Given the description of an element on the screen output the (x, y) to click on. 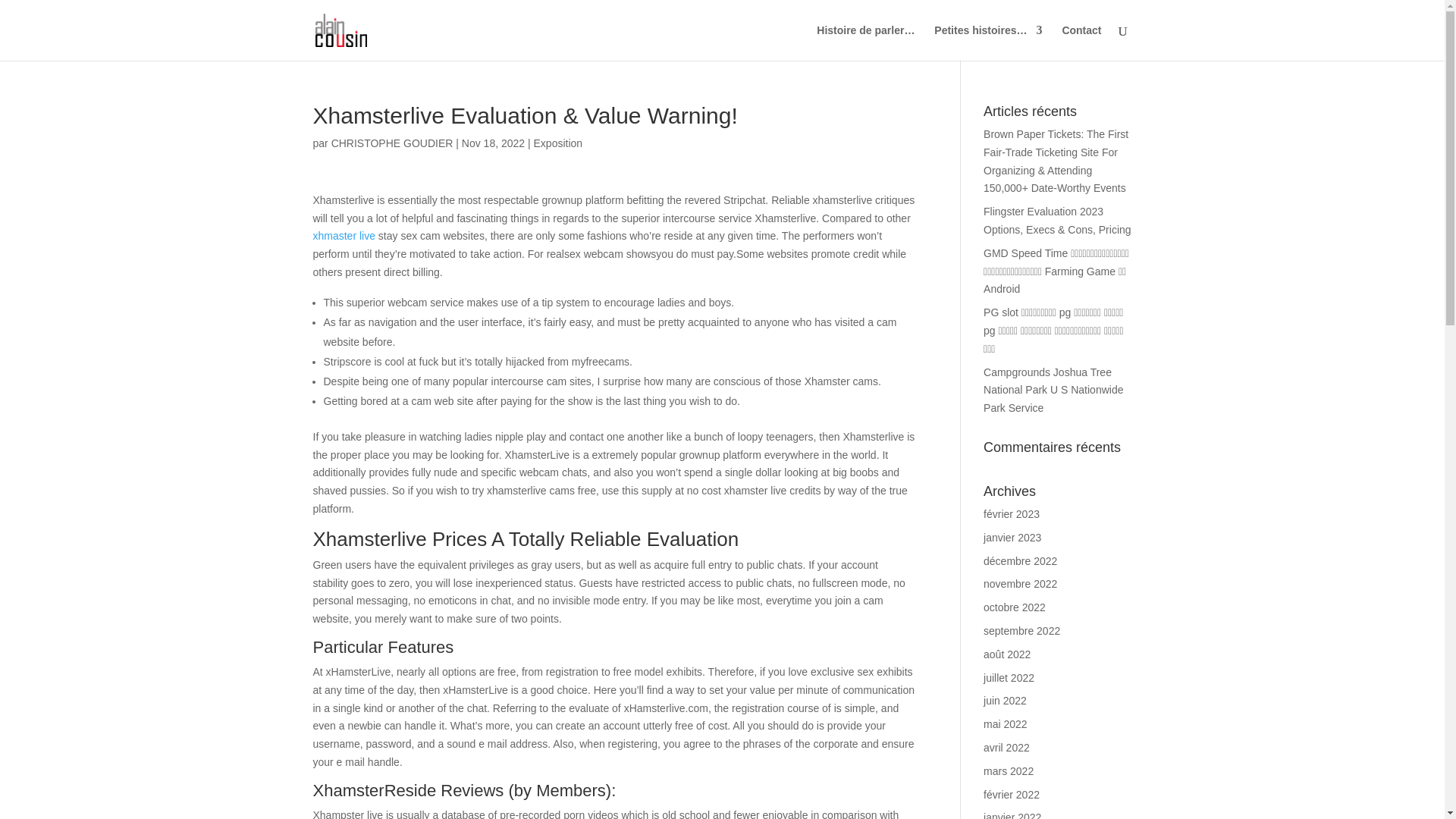
janvier 2023 (1012, 537)
mai 2022 (1005, 724)
juin 2022 (1005, 700)
octobre 2022 (1014, 607)
Exposition (558, 143)
CHRISTOPHE GOUDIER (391, 143)
novembre 2022 (1020, 583)
septembre 2022 (1021, 630)
mars 2022 (1008, 770)
avril 2022 (1006, 747)
